Given the description of an element on the screen output the (x, y) to click on. 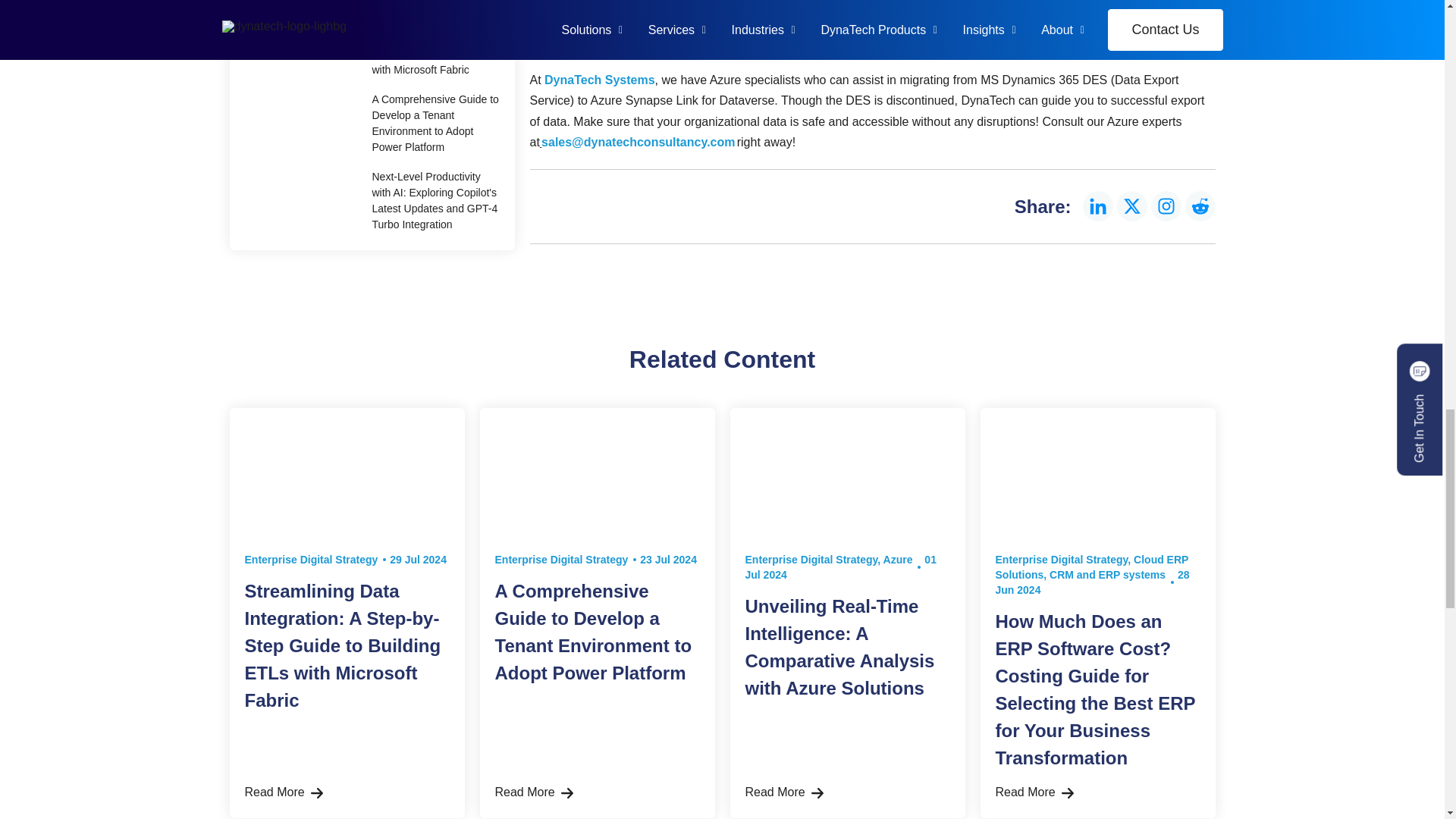
Follow us on Linkedin (1097, 206)
